Given the description of an element on the screen output the (x, y) to click on. 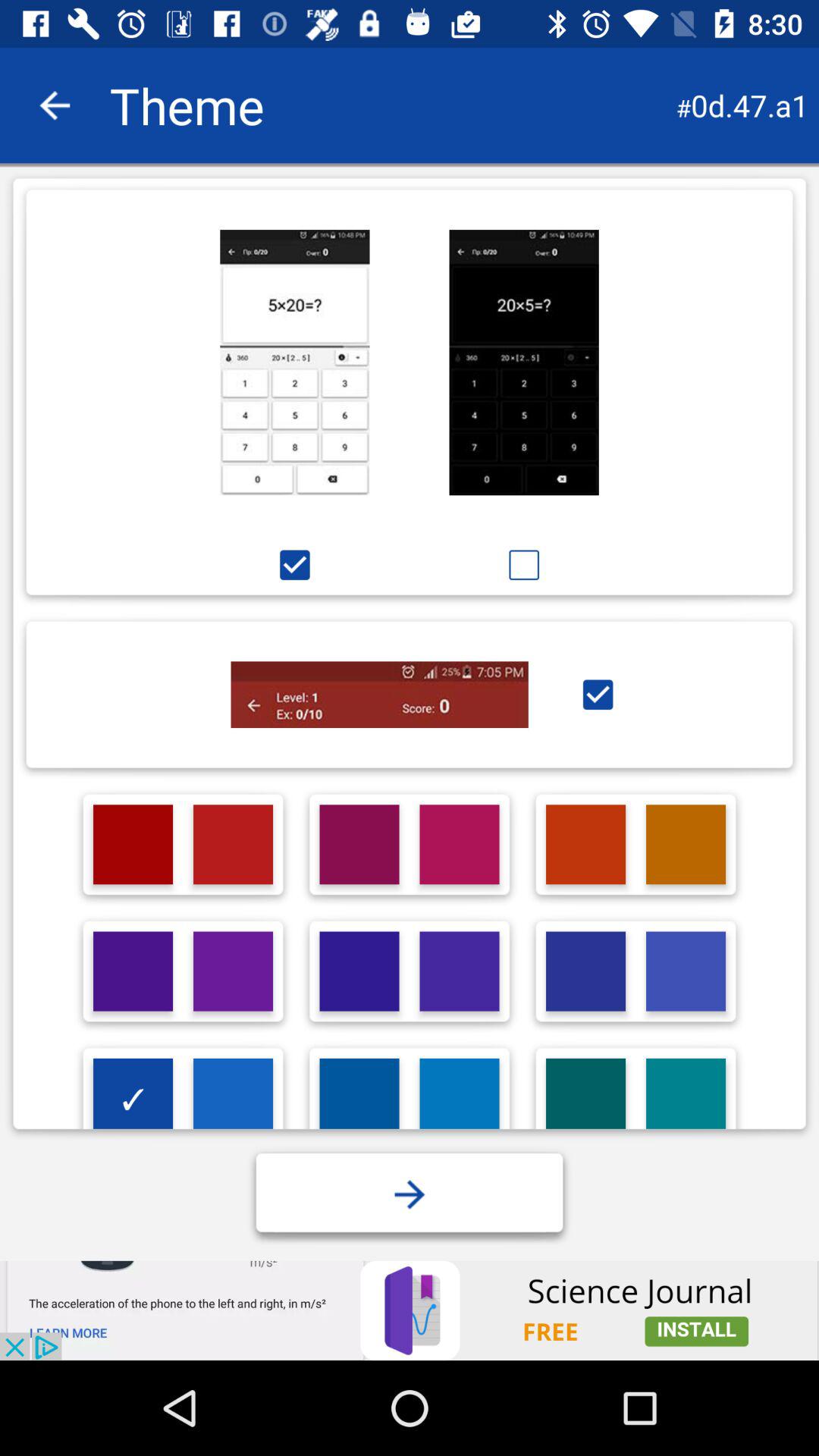
logo (685, 971)
